Given the description of an element on the screen output the (x, y) to click on. 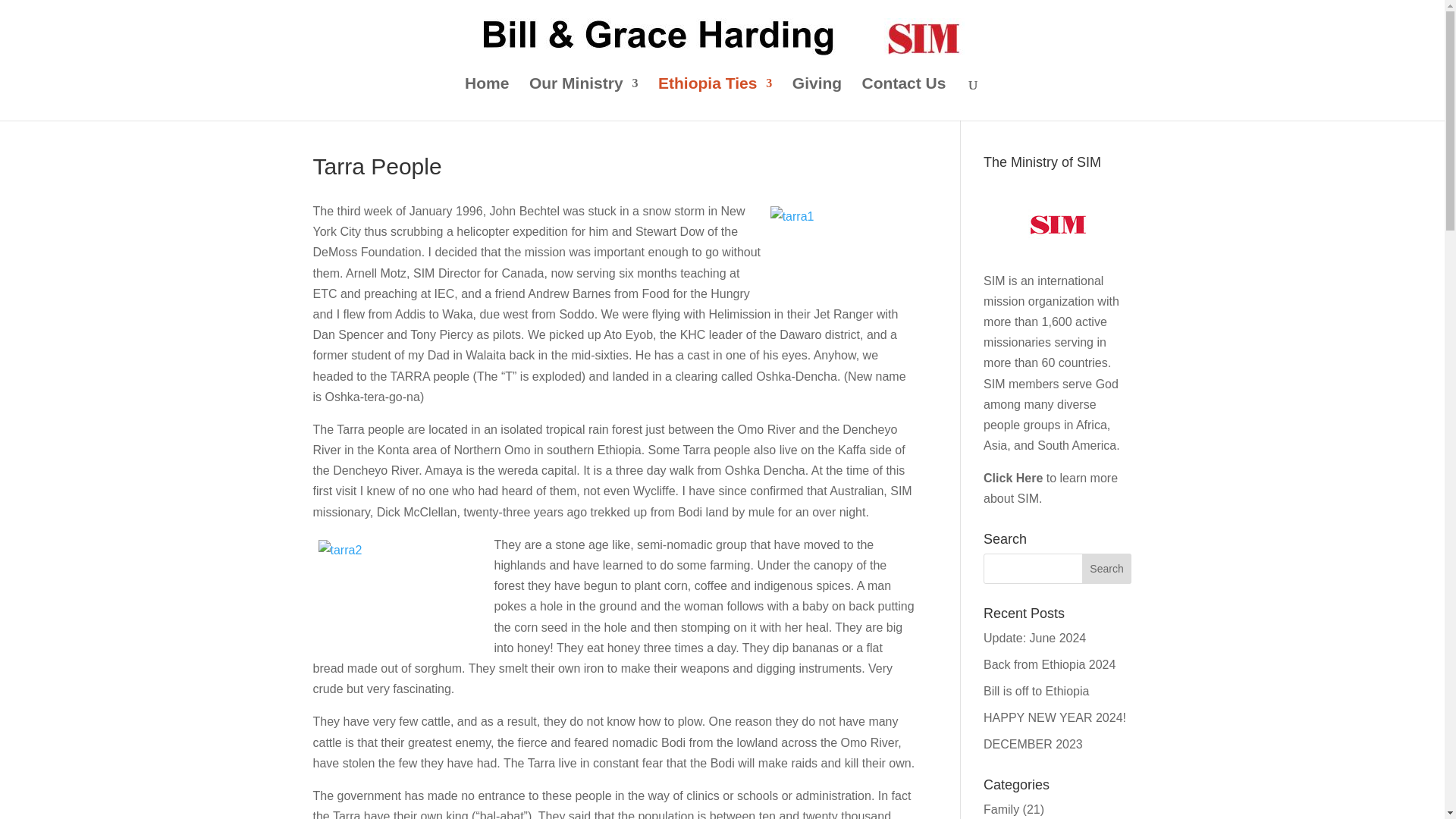
Click Here (1013, 477)
Search (1106, 568)
Home (486, 98)
Contact Us (903, 98)
Search (1106, 568)
Ethiopia Ties (714, 98)
Bill is off to Ethiopia (1036, 690)
Giving (816, 98)
HAPPY NEW YEAR 2024! (1054, 717)
DECEMBER 2023 (1033, 744)
